Given the description of an element on the screen output the (x, y) to click on. 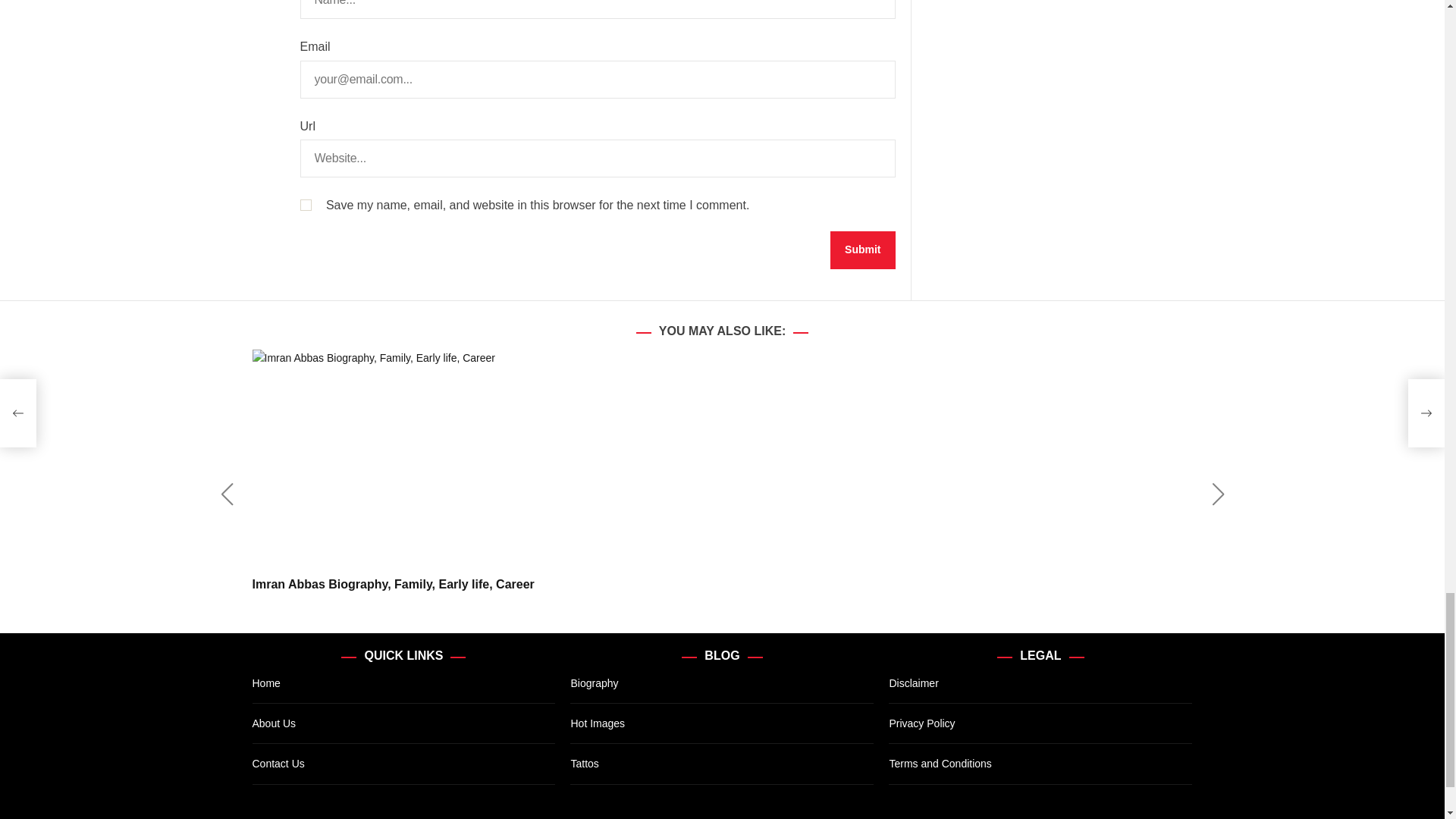
yes (305, 204)
Submit (862, 249)
